Given the description of an element on the screen output the (x, y) to click on. 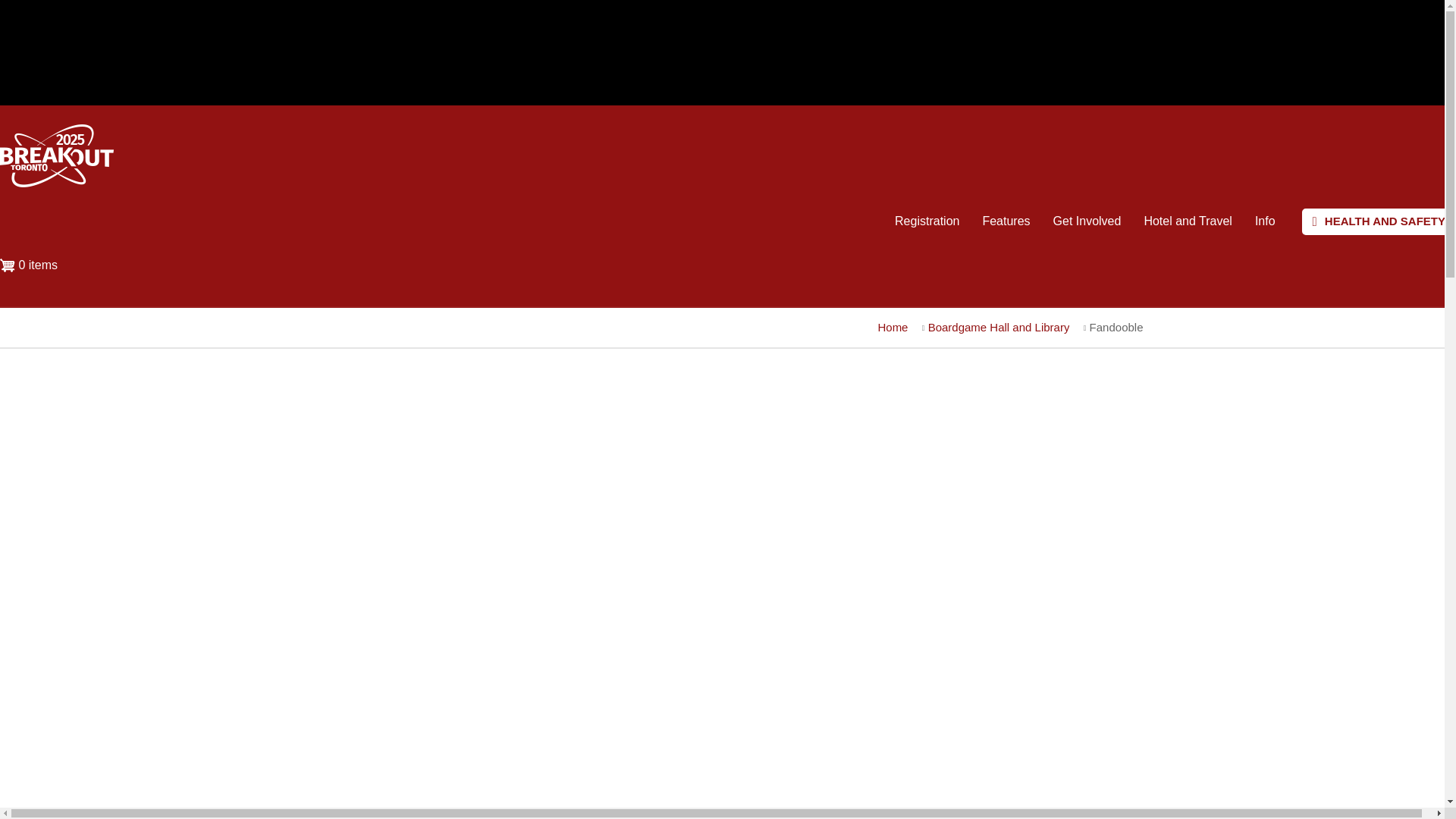
Boardgame Hall and Library (999, 327)
0 items (34, 267)
Hotel and Travel (1187, 221)
Home (56, 182)
Home (892, 327)
